Given the description of an element on the screen output the (x, y) to click on. 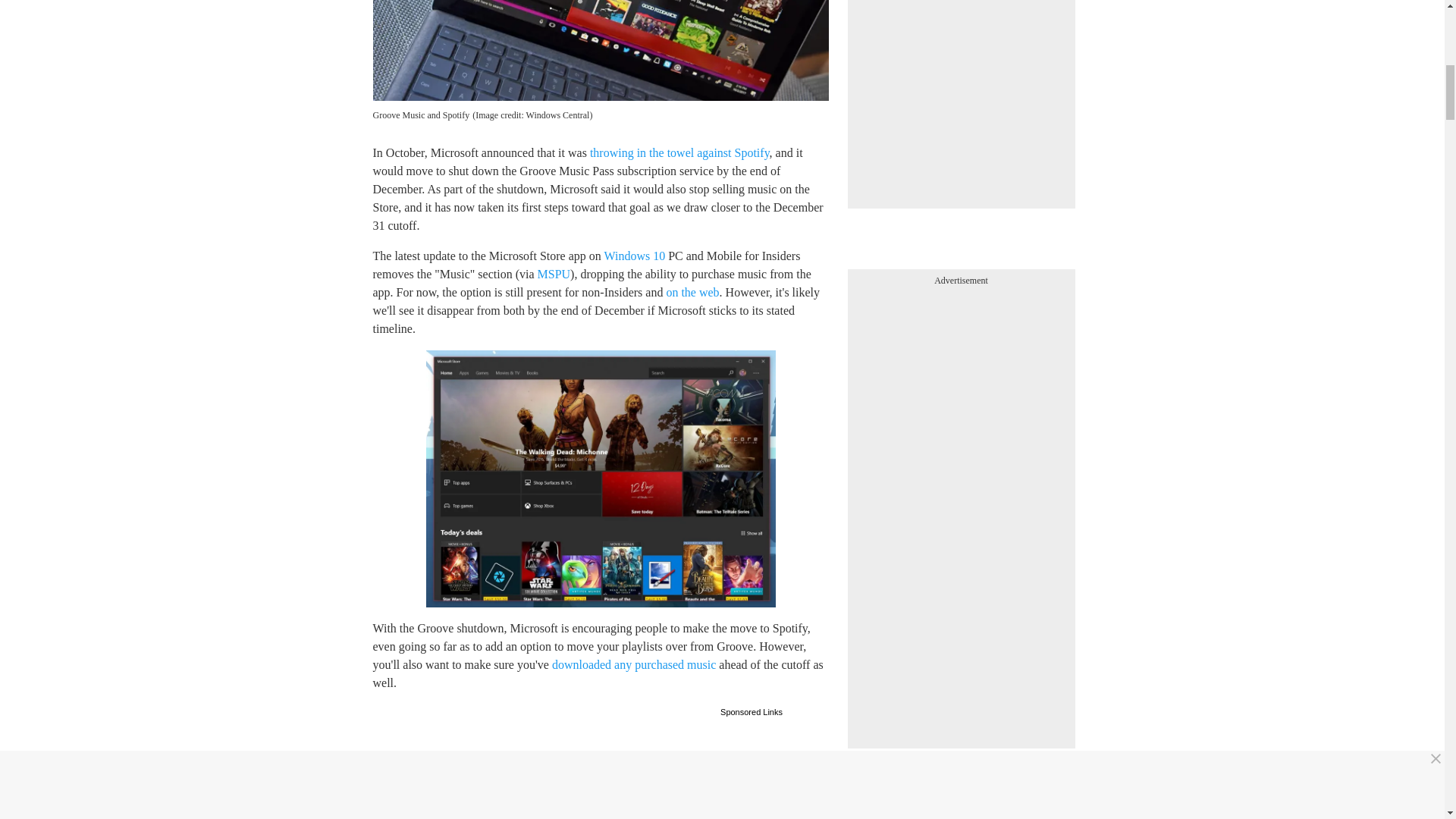
downloaded any purchased music (633, 664)
Sponsored Links (751, 710)
MSPU (553, 273)
throwing in the towel against Spotify (679, 152)
on the web (692, 291)
Windows 10 (634, 255)
